Given the description of an element on the screen output the (x, y) to click on. 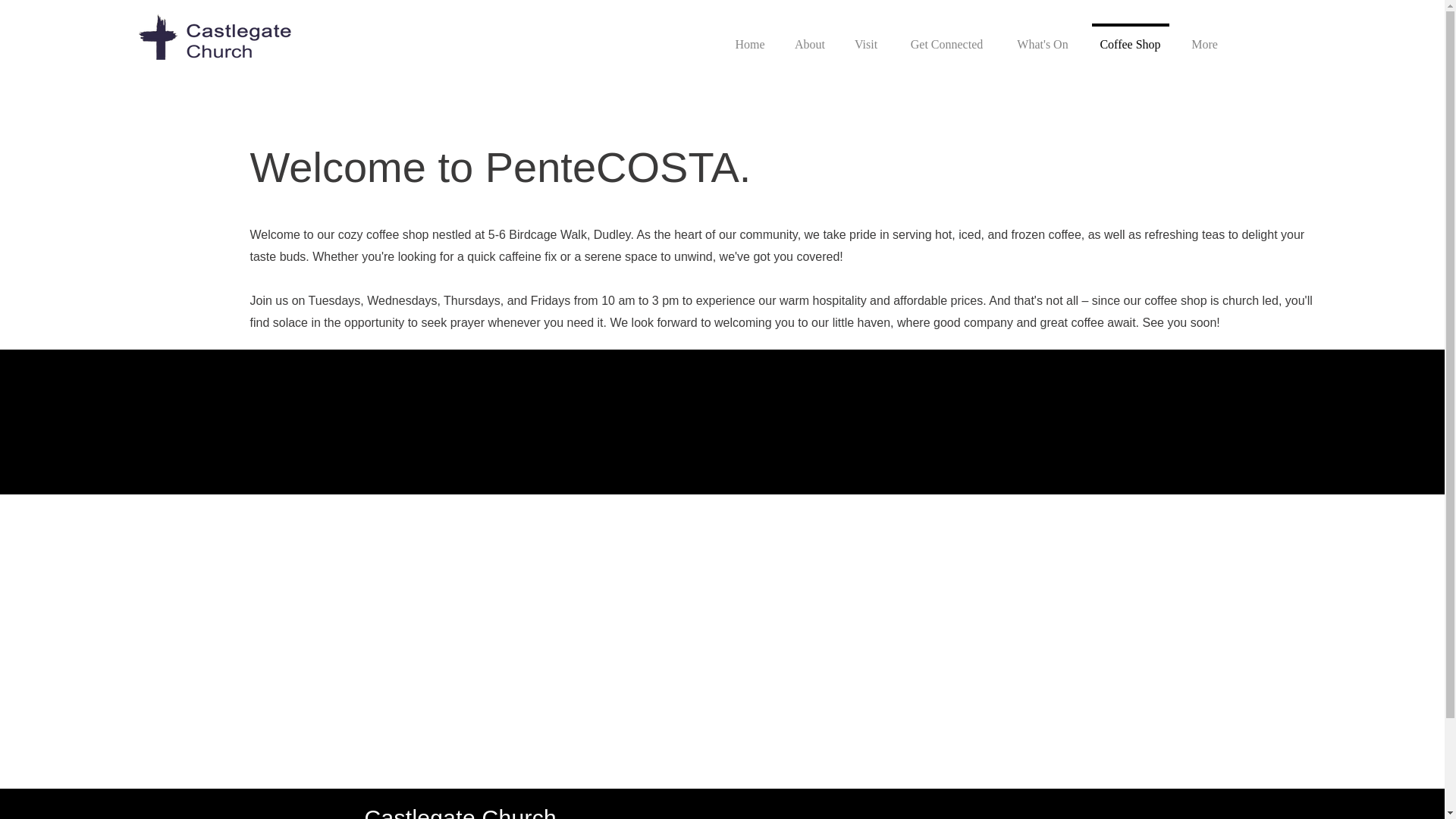
About (809, 37)
Visit (866, 37)
Get Connected (946, 37)
Coffee Shop (1130, 37)
What's On (1042, 37)
Home (750, 37)
